Given the description of an element on the screen output the (x, y) to click on. 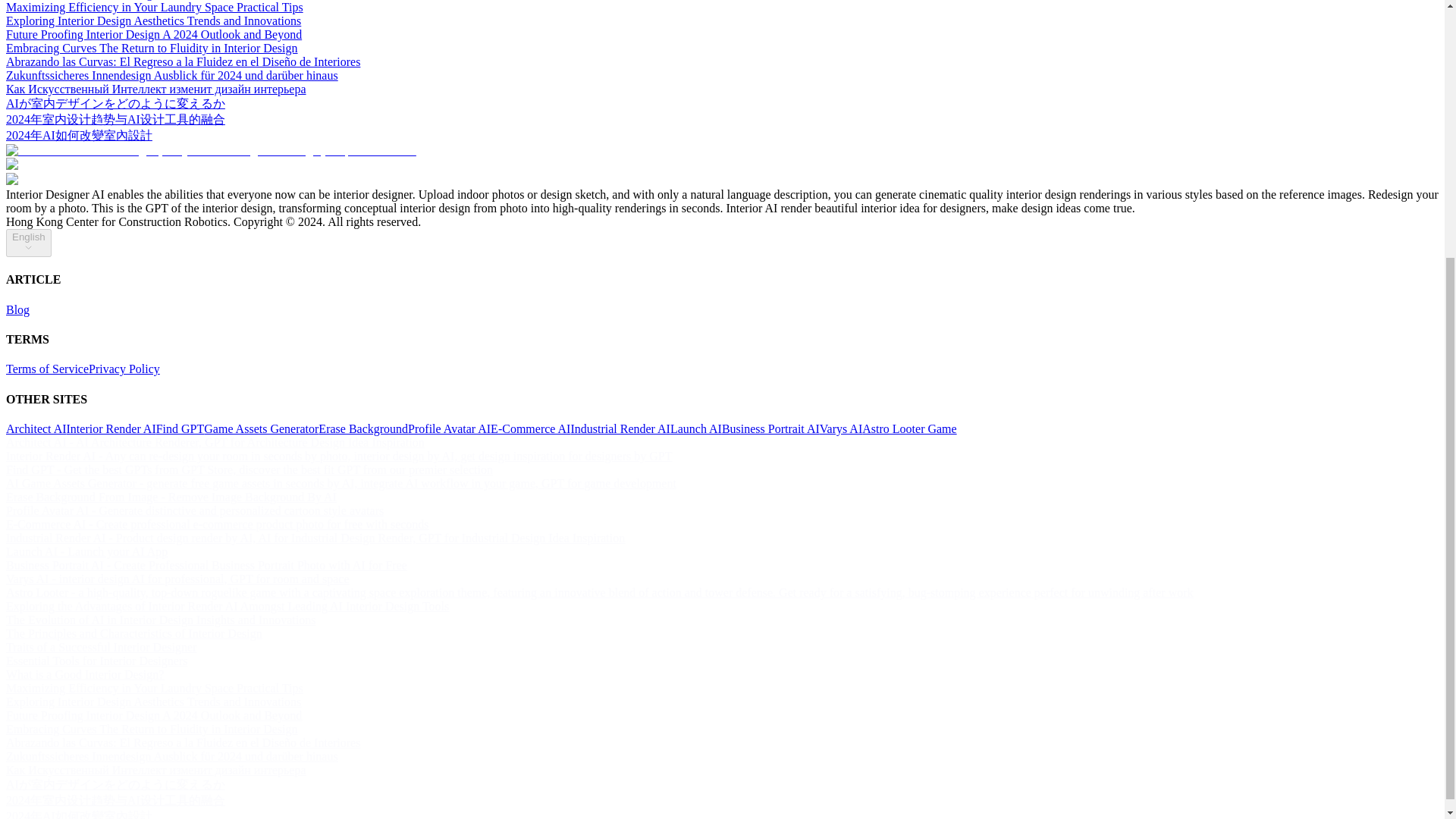
E-Commerce AI (530, 428)
Erase Background (362, 428)
Game Assets Generator (260, 428)
Embracing Curves The Return to Fluidity in Interior Design (151, 47)
Maximizing Efficiency in Your Laundry Space Practical Tips (153, 6)
Business Portrait AI (770, 428)
English (27, 243)
Exploring Interior Design Aesthetics Trends and Innovations (153, 20)
Blog (17, 309)
Launch AI (695, 428)
Astro Looter Game (908, 428)
Profile Avatar AI (448, 428)
Terms of Service (46, 368)
Interior Render AI (110, 428)
Industrial Render AI (619, 428)
